Given the description of an element on the screen output the (x, y) to click on. 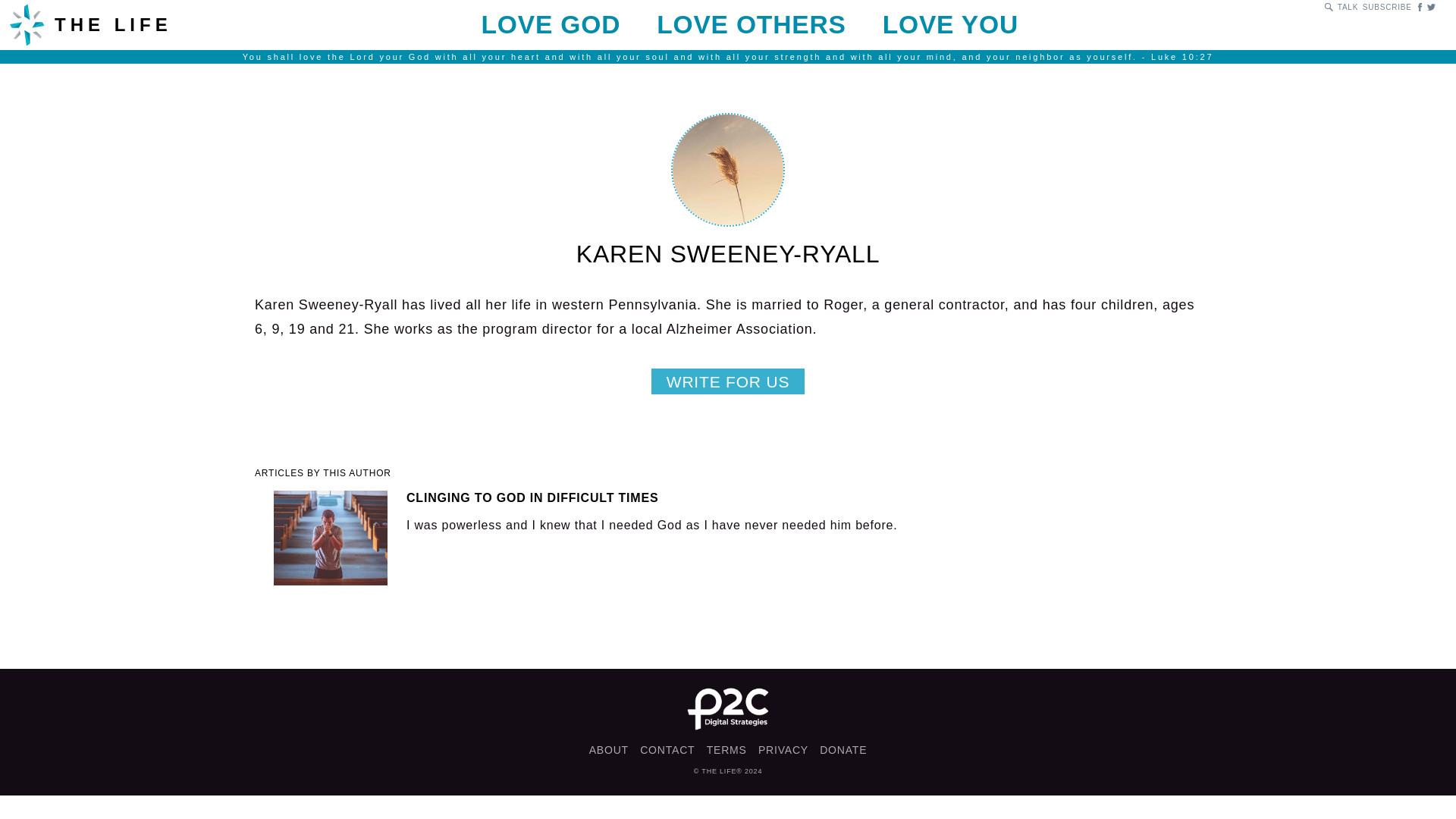
ABOUT (608, 749)
CONTACT (667, 749)
DONATE (842, 749)
LOVE YOU (949, 24)
LOVE GOD (551, 24)
THE LIFE (185, 24)
WRITE FOR US (727, 380)
PRIVACY (783, 749)
LOVE OTHERS (750, 24)
SUBSCRIBE (1387, 7)
TERMS (726, 749)
TALK (1348, 7)
